Given the description of an element on the screen output the (x, y) to click on. 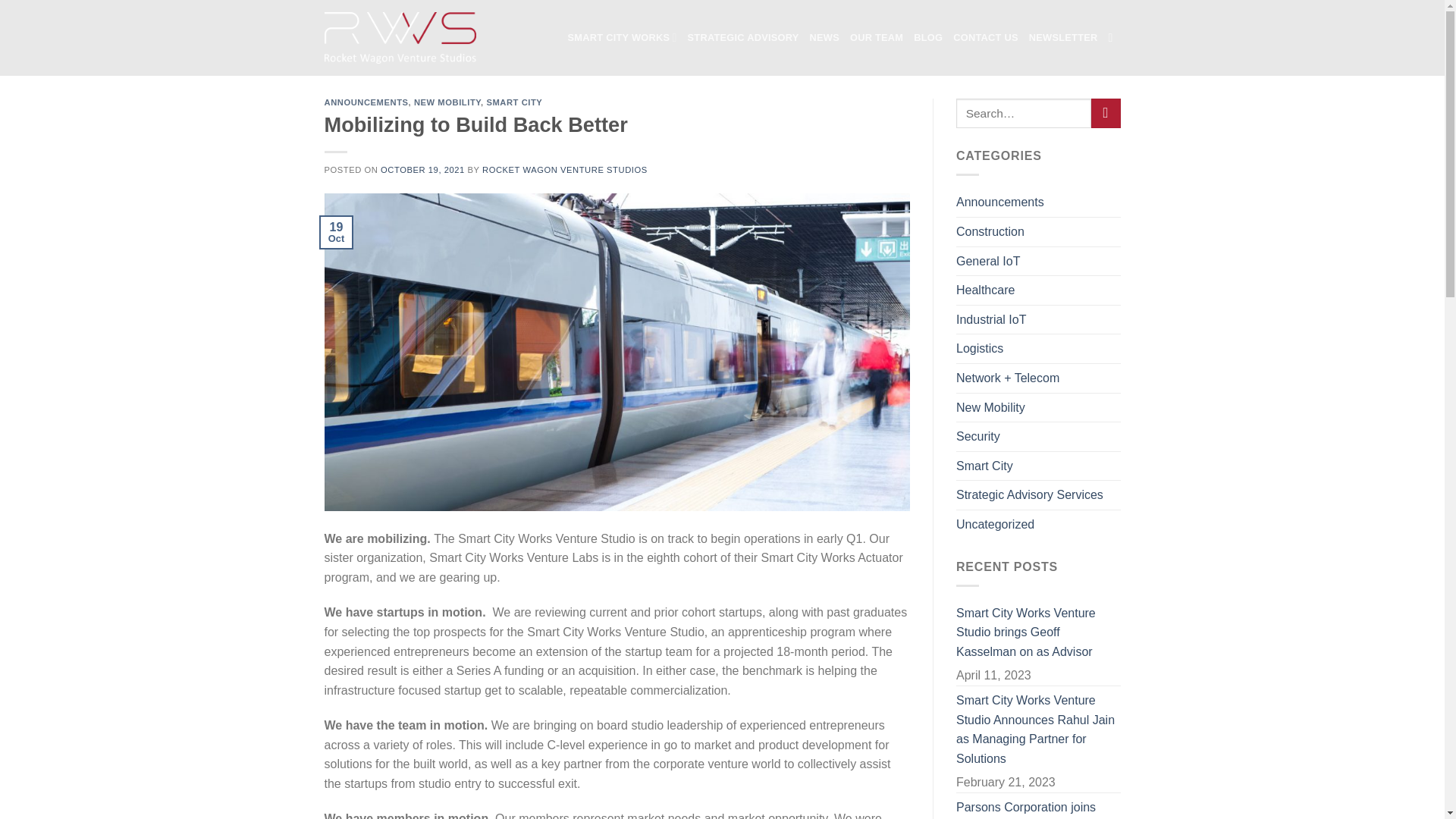
STRATEGIC ADVISORY (743, 37)
SMART CITY WORKS (622, 37)
BLOG (928, 37)
ROCKET WAGON VENTURE STUDIOS (564, 169)
General IoT (988, 261)
NEWS (824, 37)
SMART CITY (513, 102)
Sign up for Newsletter (1063, 37)
NEWSLETTER (1063, 37)
